Given the description of an element on the screen output the (x, y) to click on. 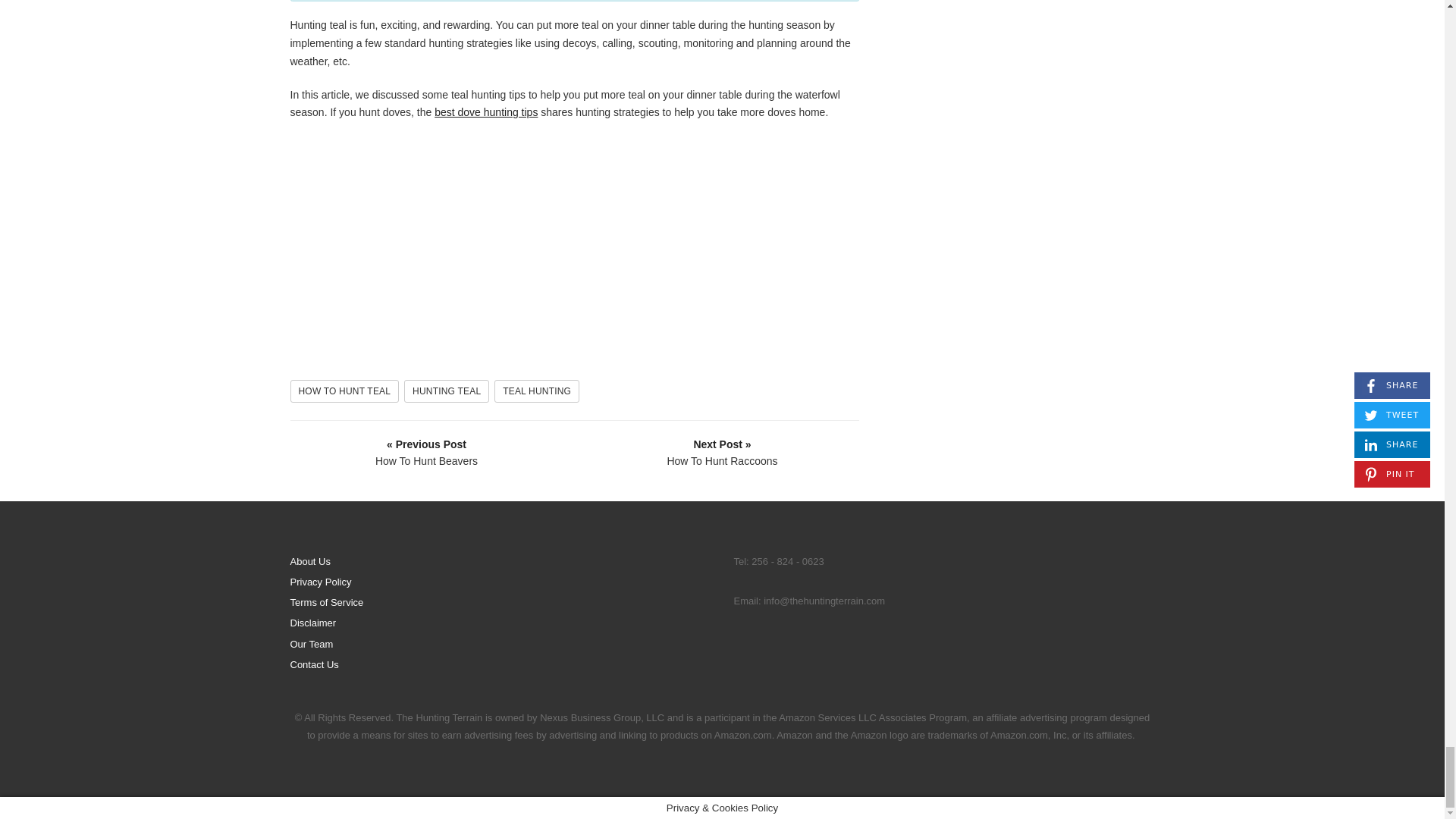
hunting teal Tag (446, 391)
How To Hunt Beavers (427, 451)
how to hunt teal Tag (343, 391)
How To Hunt Raccoons (722, 451)
teal hunting Tag (537, 391)
